Given the description of an element on the screen output the (x, y) to click on. 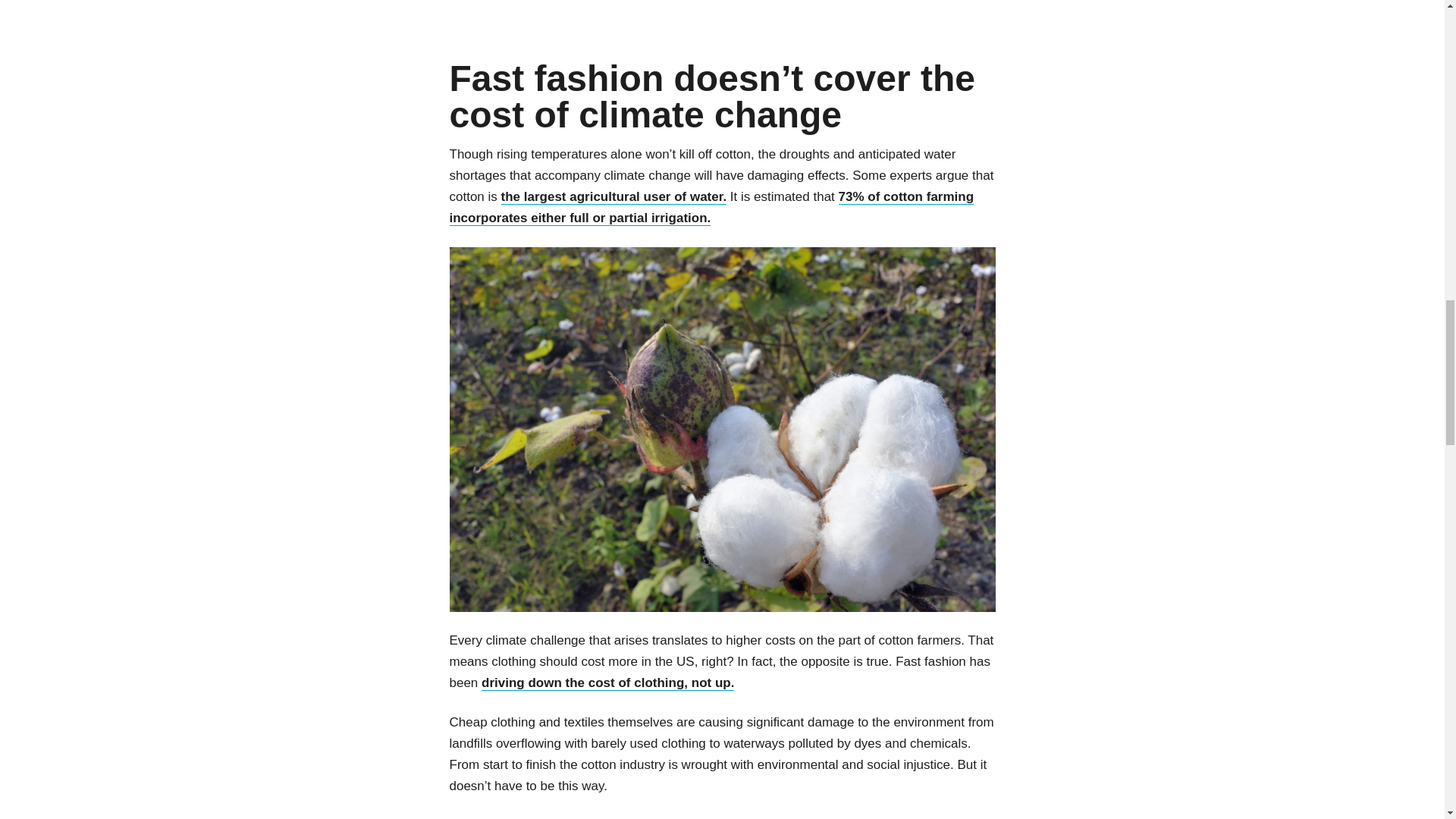
the largest agricultural user of water. (613, 196)
driving down the cost of clothing, not up. (607, 683)
